Given the description of an element on the screen output the (x, y) to click on. 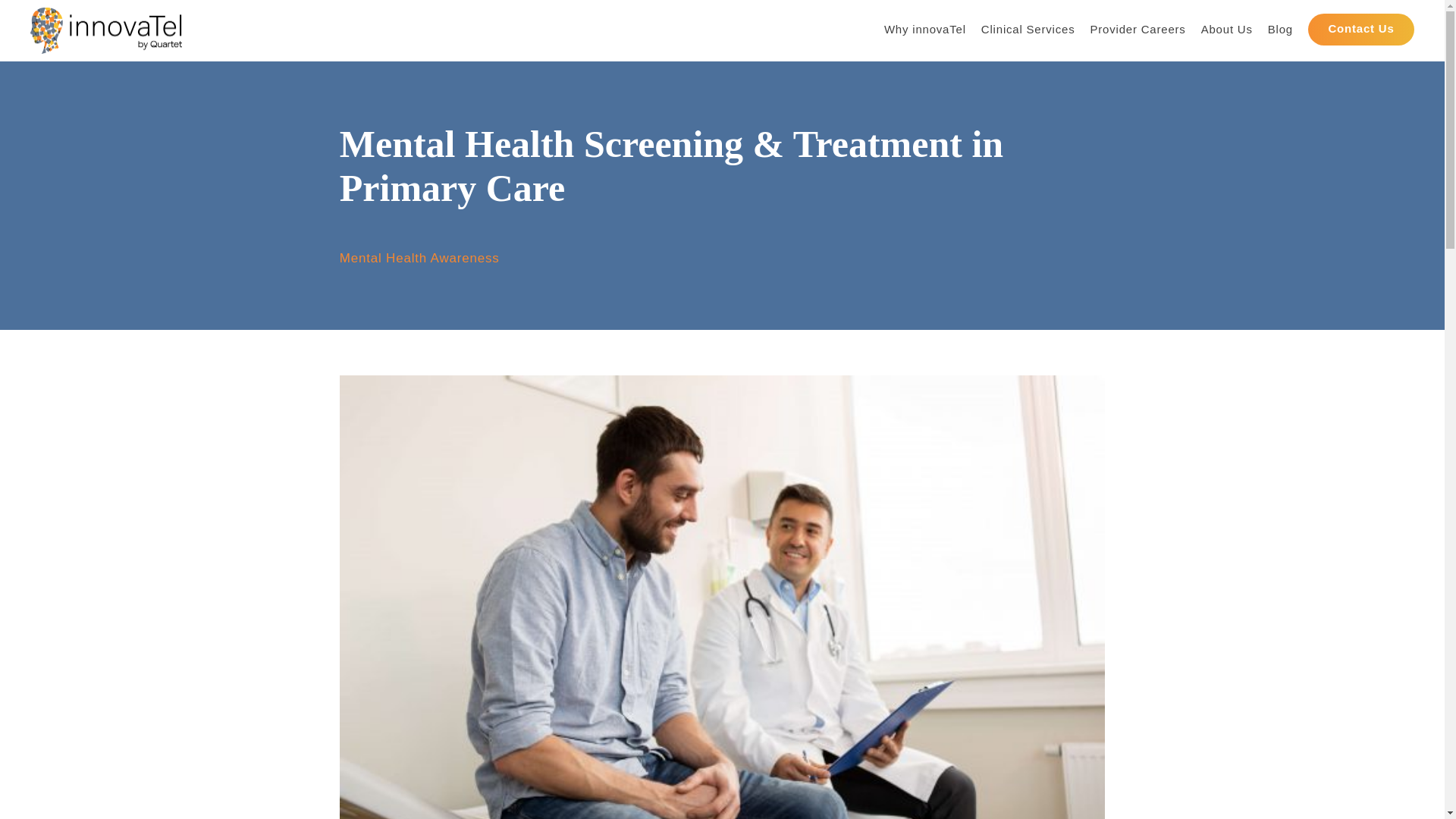
Blog (1280, 32)
Clinical Services (1028, 32)
Provider Careers (1137, 32)
Why innovaTel (924, 32)
About Us (1226, 32)
Mental Health Awareness (419, 257)
Contact Us (1360, 29)
